Given the description of an element on the screen output the (x, y) to click on. 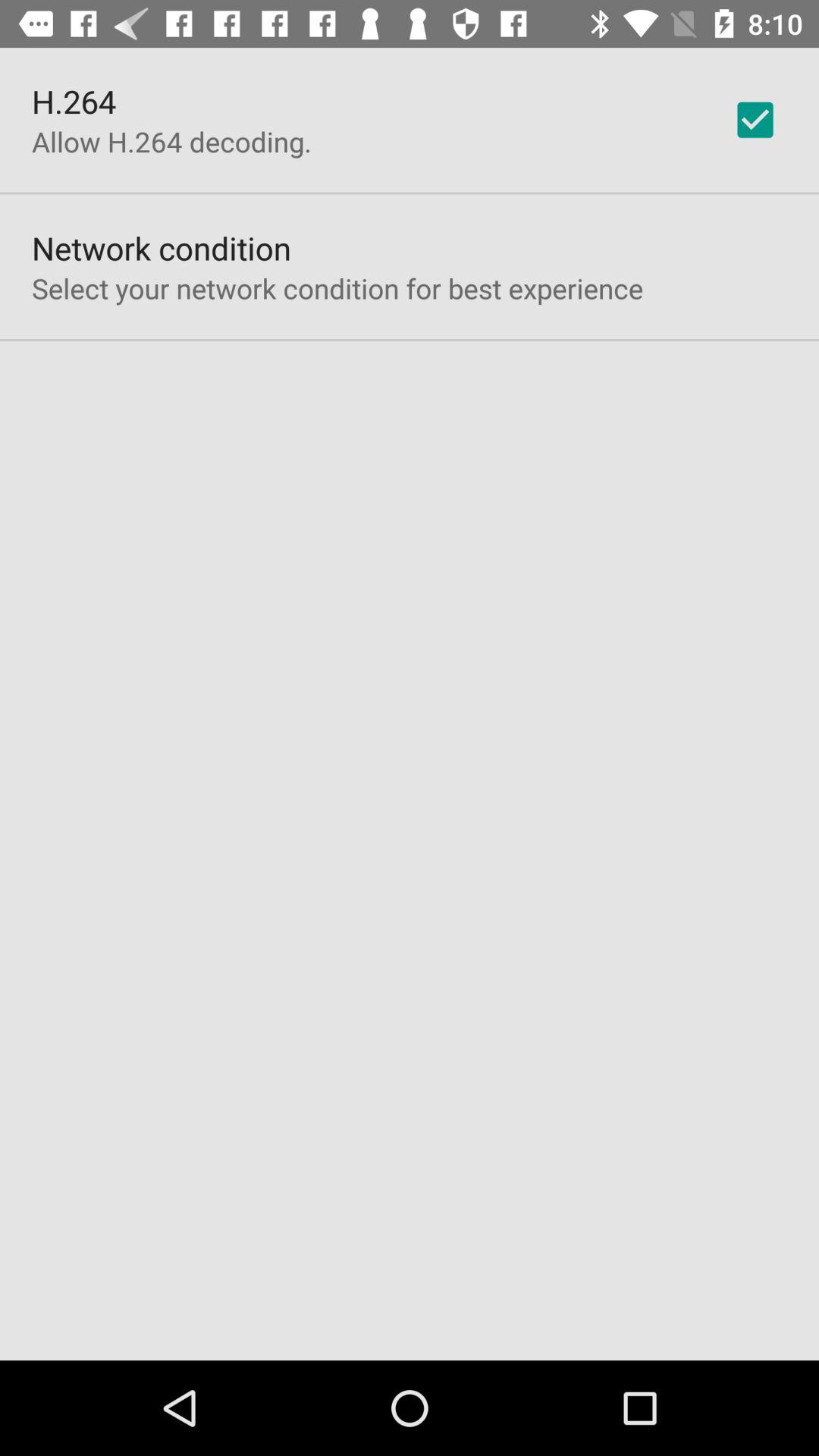
select app next to the allow h 264 app (755, 119)
